Given the description of an element on the screen output the (x, y) to click on. 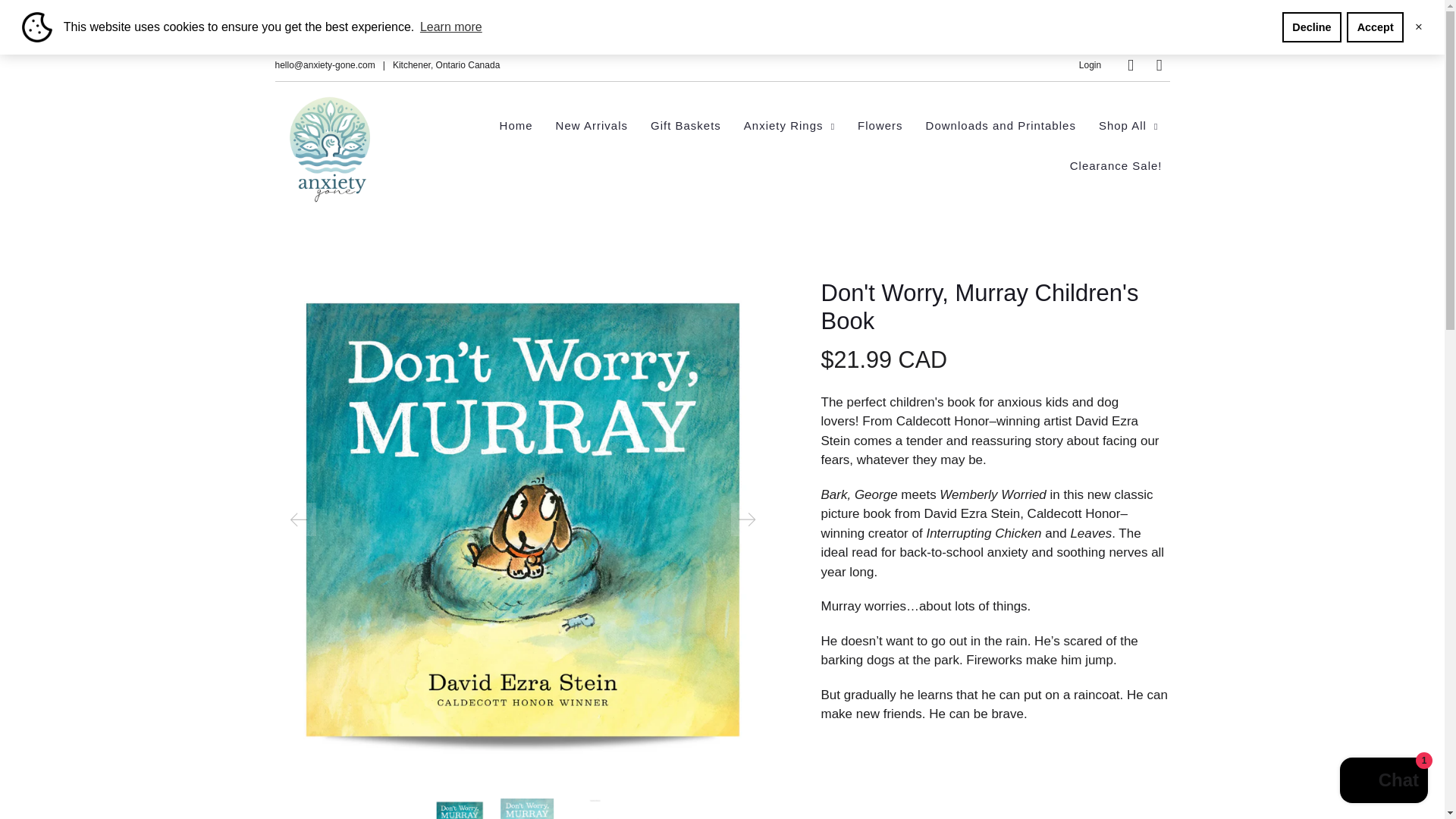
Gift Baskets (686, 126)
Learn more (450, 26)
Decline (1311, 27)
Shop All (1128, 126)
Search (1130, 65)
Flowers (880, 126)
Home (516, 126)
Login (1089, 64)
My Account  (1089, 64)
Downloads and Printables (1000, 126)
Anxiety Rings (789, 126)
Translation missing: en.layout.general.title (1159, 65)
New Arrivals (591, 126)
Accept (1374, 27)
